Given the description of an element on the screen output the (x, y) to click on. 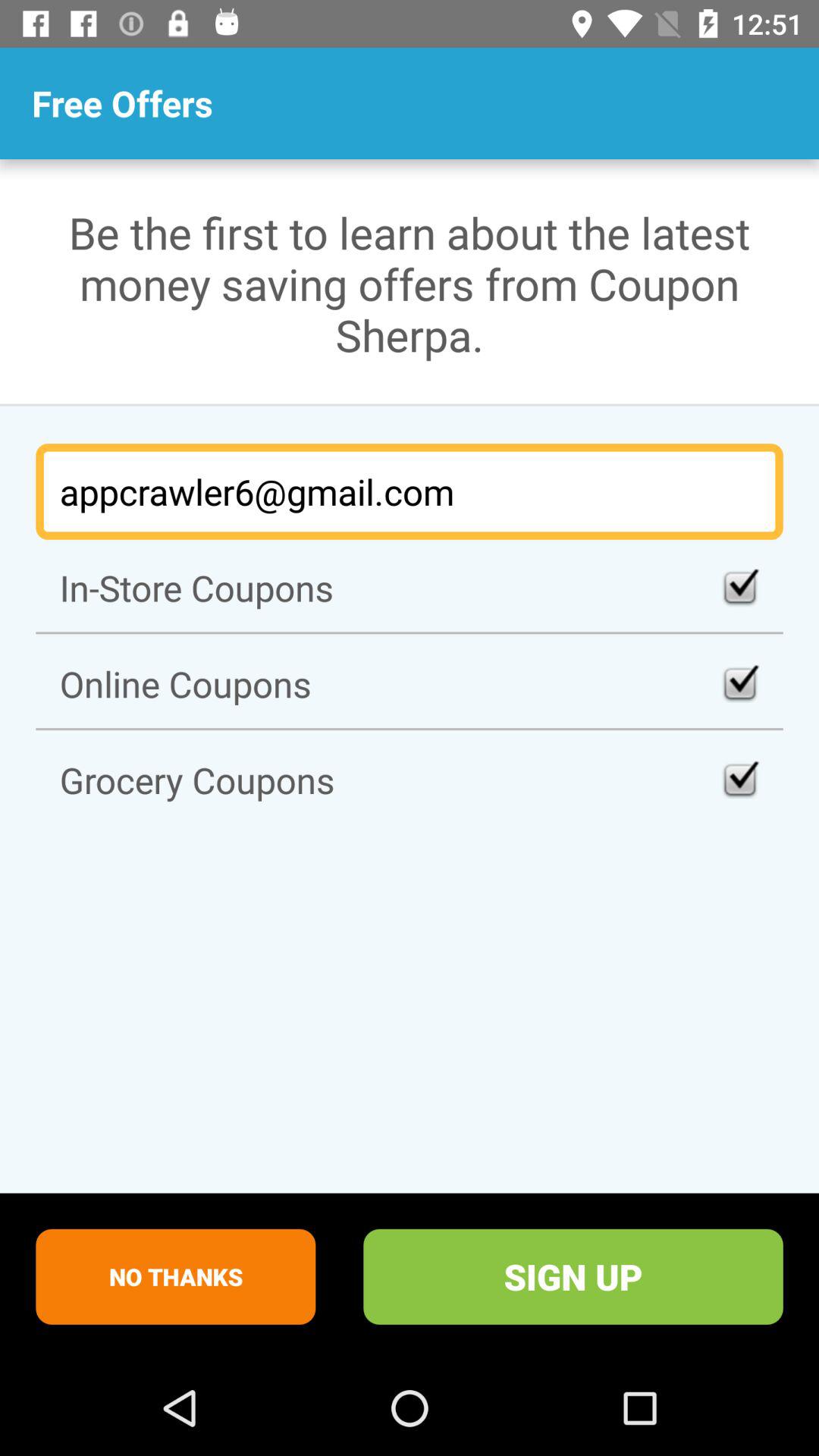
scroll until the no thanks icon (175, 1276)
